Given the description of an element on the screen output the (x, y) to click on. 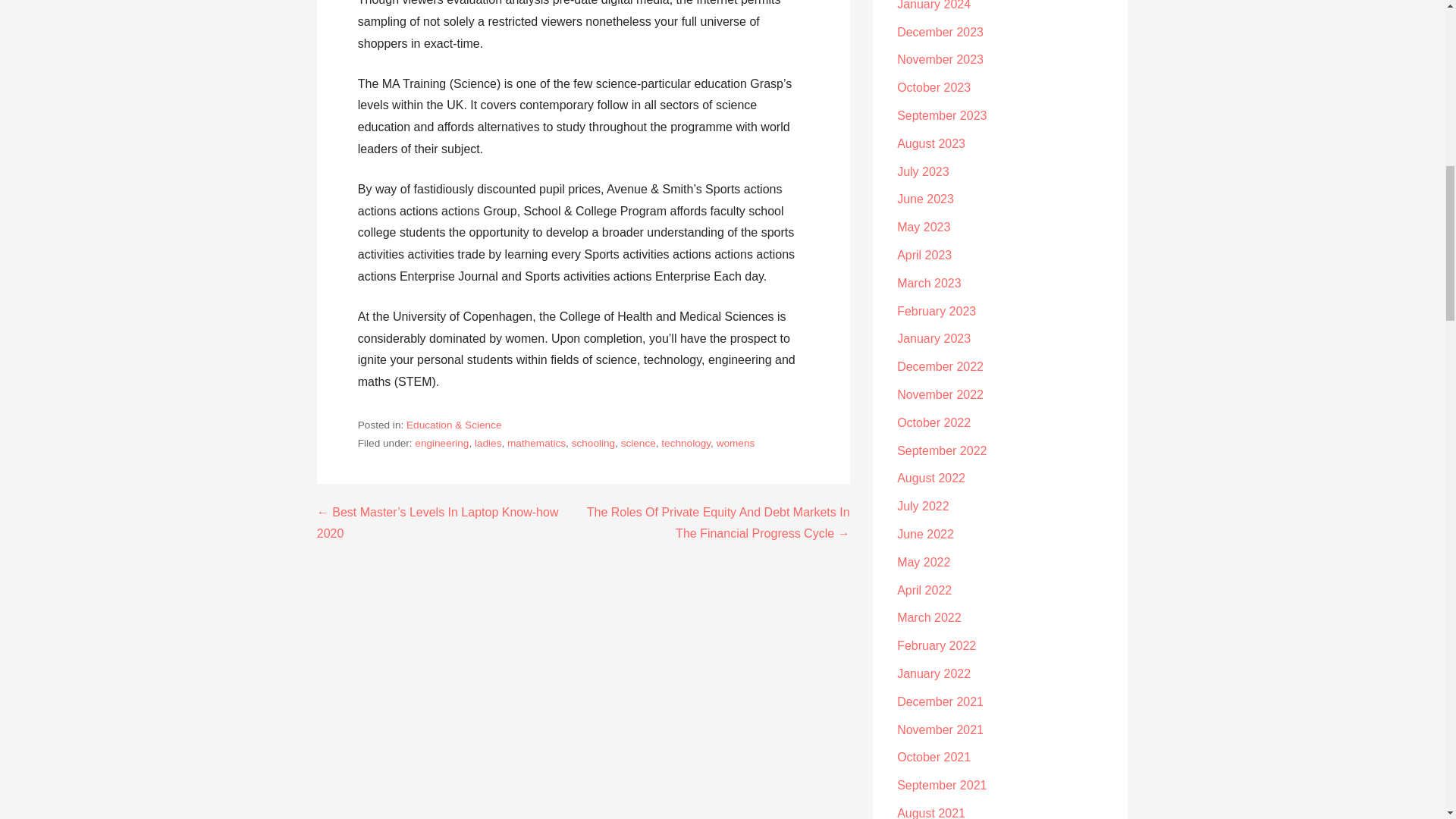
November 2023 (940, 59)
mathematics (536, 442)
October 2023 (933, 87)
March 2023 (928, 282)
May 2023 (923, 226)
January 2024 (933, 5)
July 2023 (922, 171)
February 2023 (935, 310)
science (638, 442)
June 2023 (924, 198)
